Given the description of an element on the screen output the (x, y) to click on. 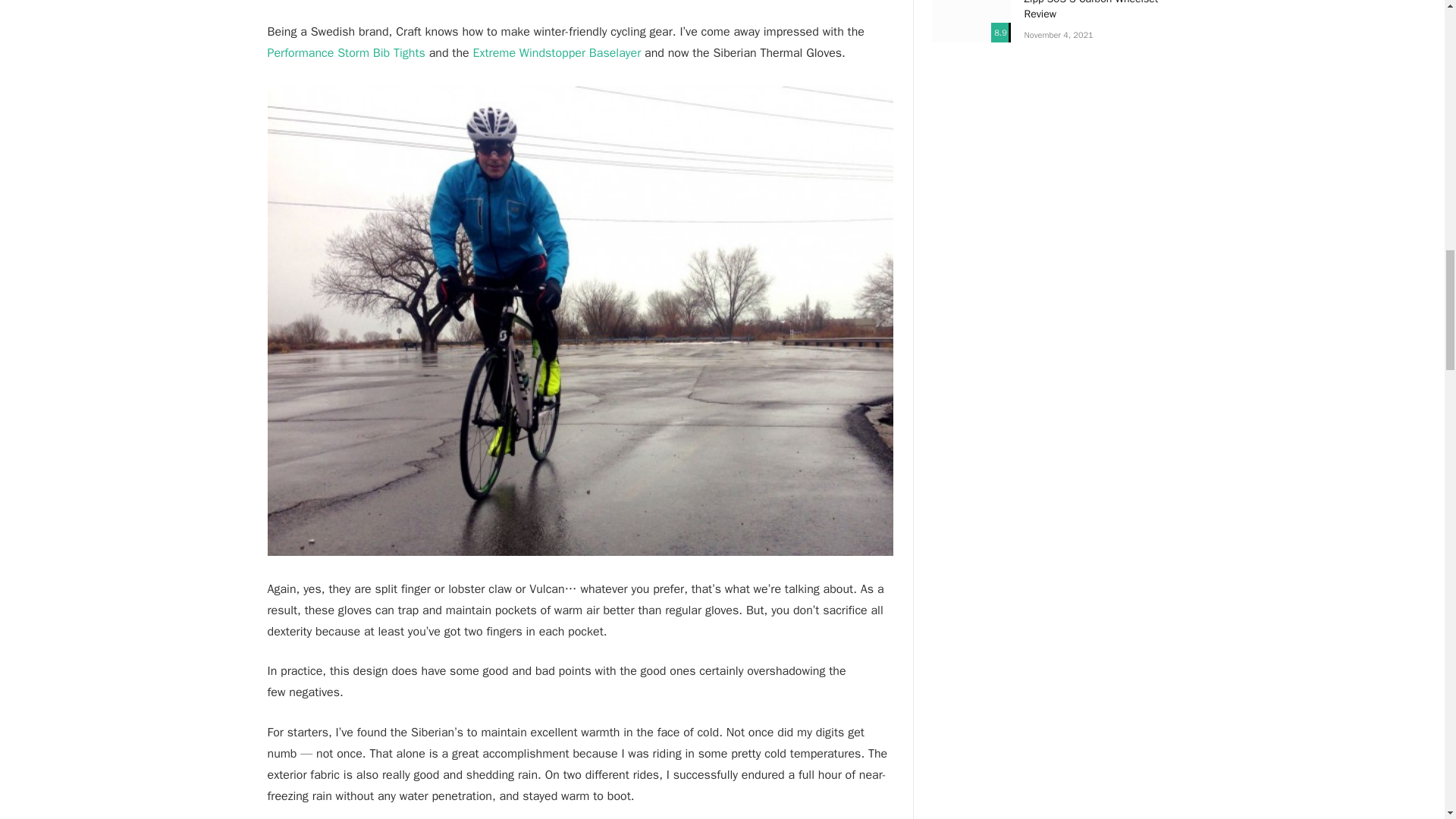
Craft Performance Storm Bib Tights Review (345, 52)
Extreme Windstopper Baselayer (555, 52)
Performance Storm Bib Tights (345, 52)
